Given the description of an element on the screen output the (x, y) to click on. 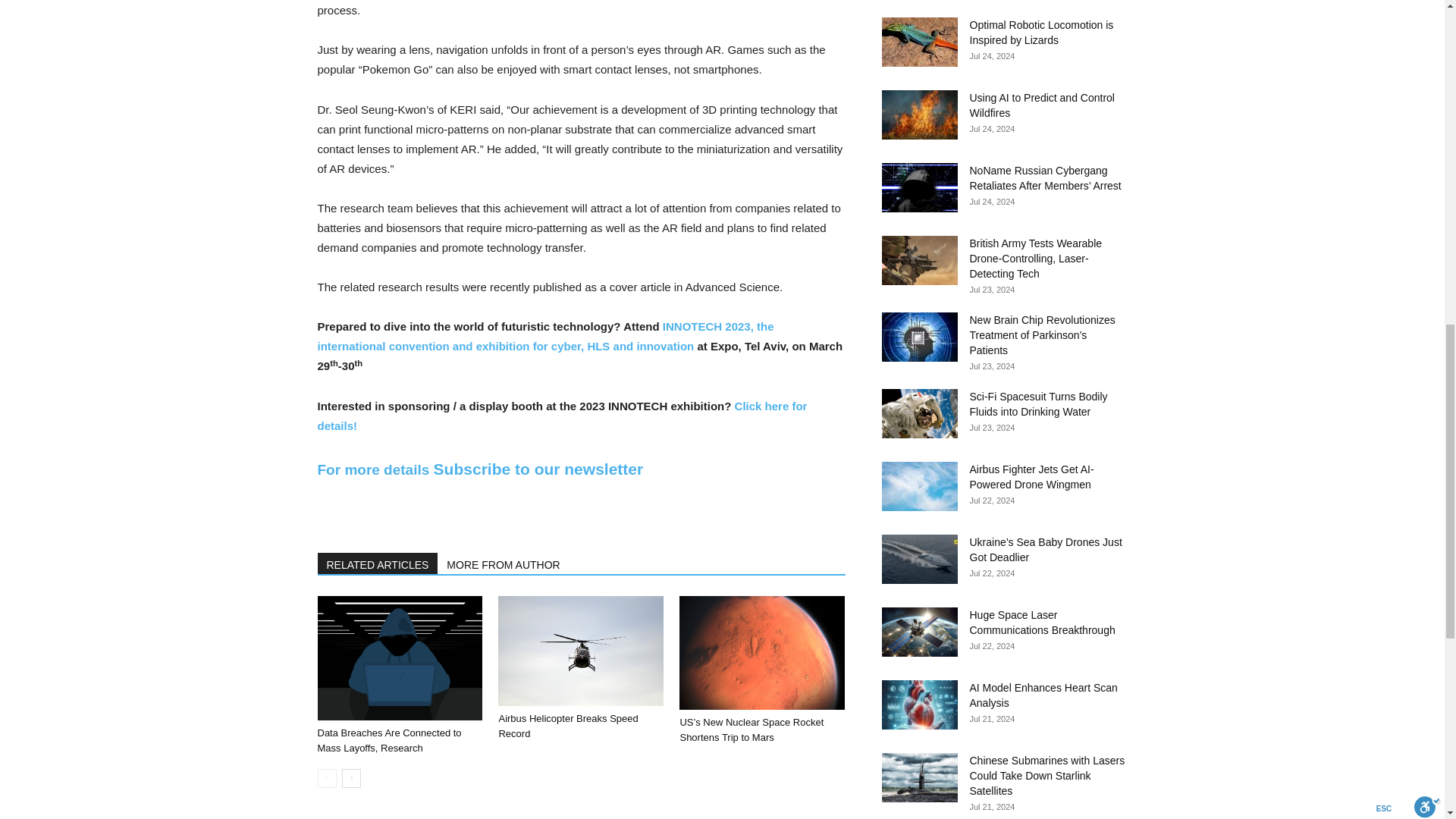
Airbus Helicopter Breaks Speed Record (580, 650)
Data Breaches Are Connected to Mass Layoffs, Research (389, 740)
Data Breaches Are Connected to Mass Layoffs, Research (399, 657)
Airbus Helicopter Breaks Speed Record (567, 725)
